Given the description of an element on the screen output the (x, y) to click on. 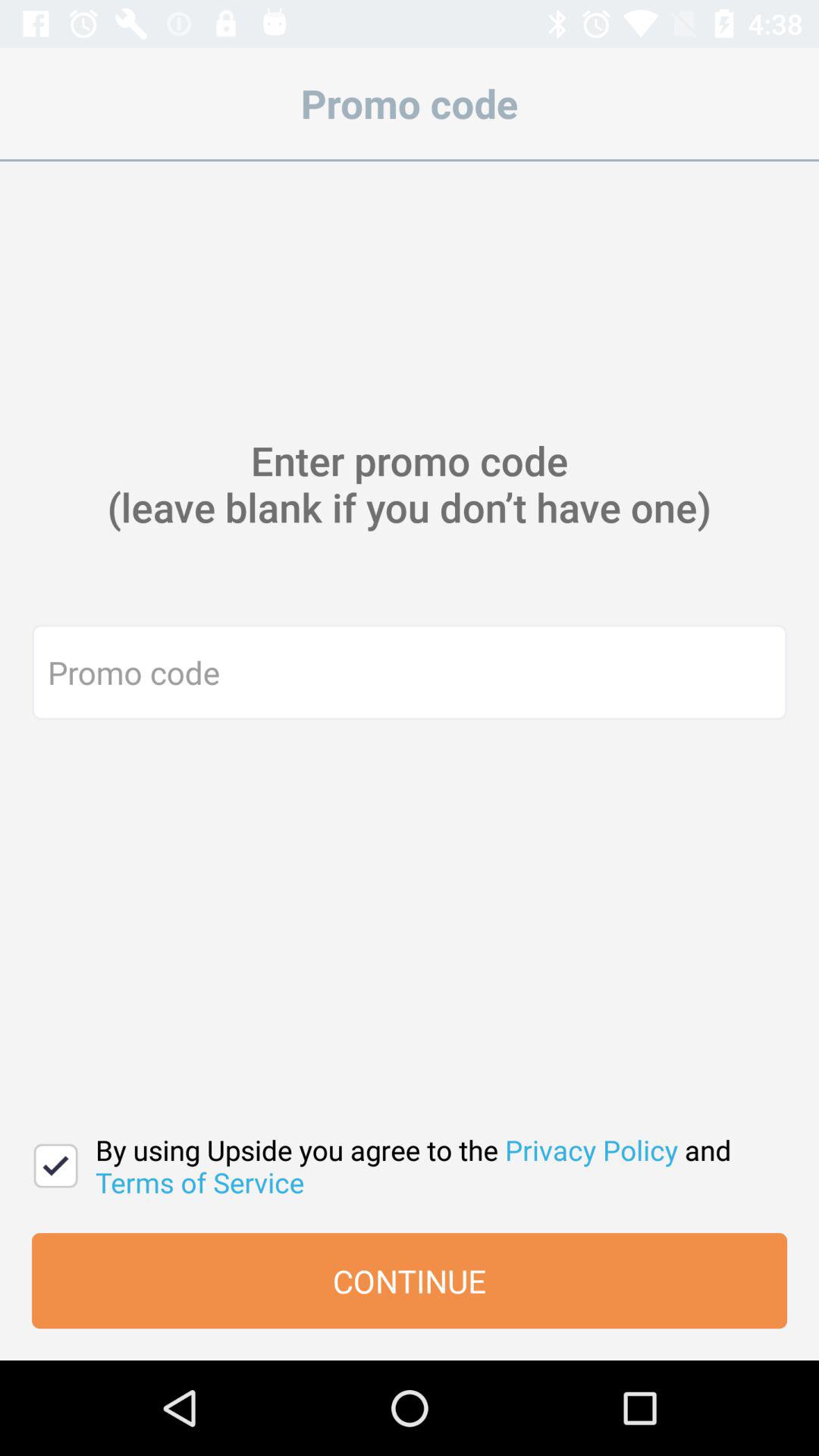
unselect the box (55, 1165)
